Given the description of an element on the screen output the (x, y) to click on. 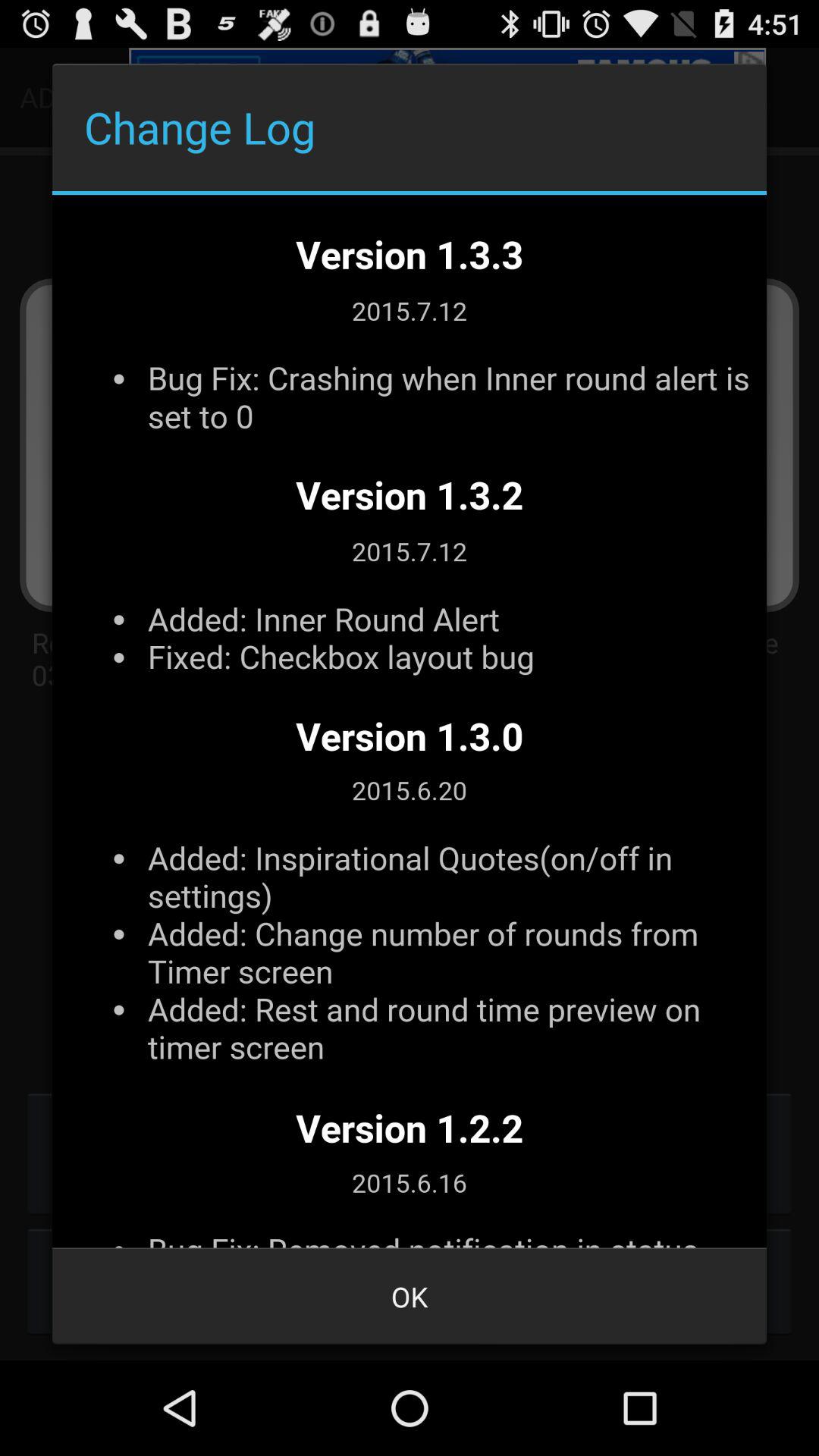
outline page (409, 721)
